Given the description of an element on the screen output the (x, y) to click on. 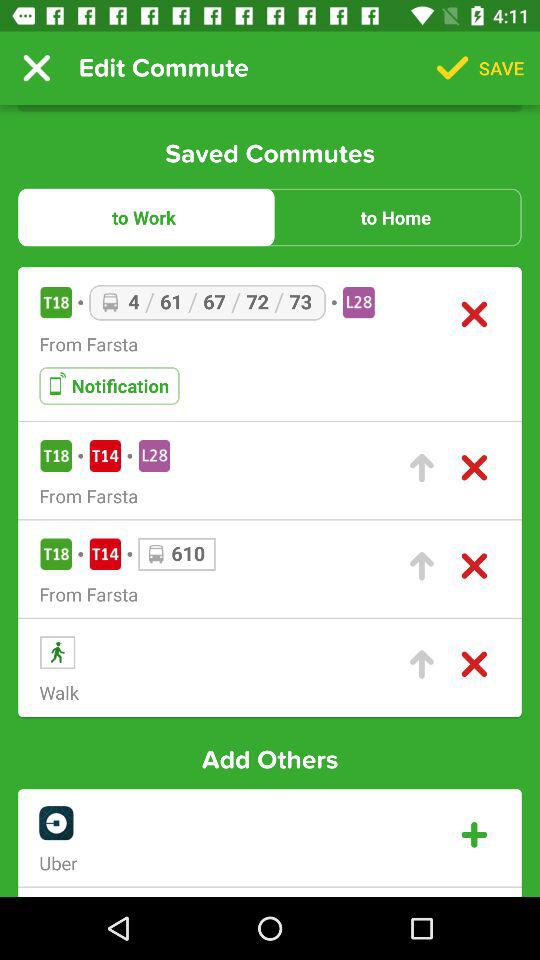
add uber commute option (474, 834)
